Given the description of an element on the screen output the (x, y) to click on. 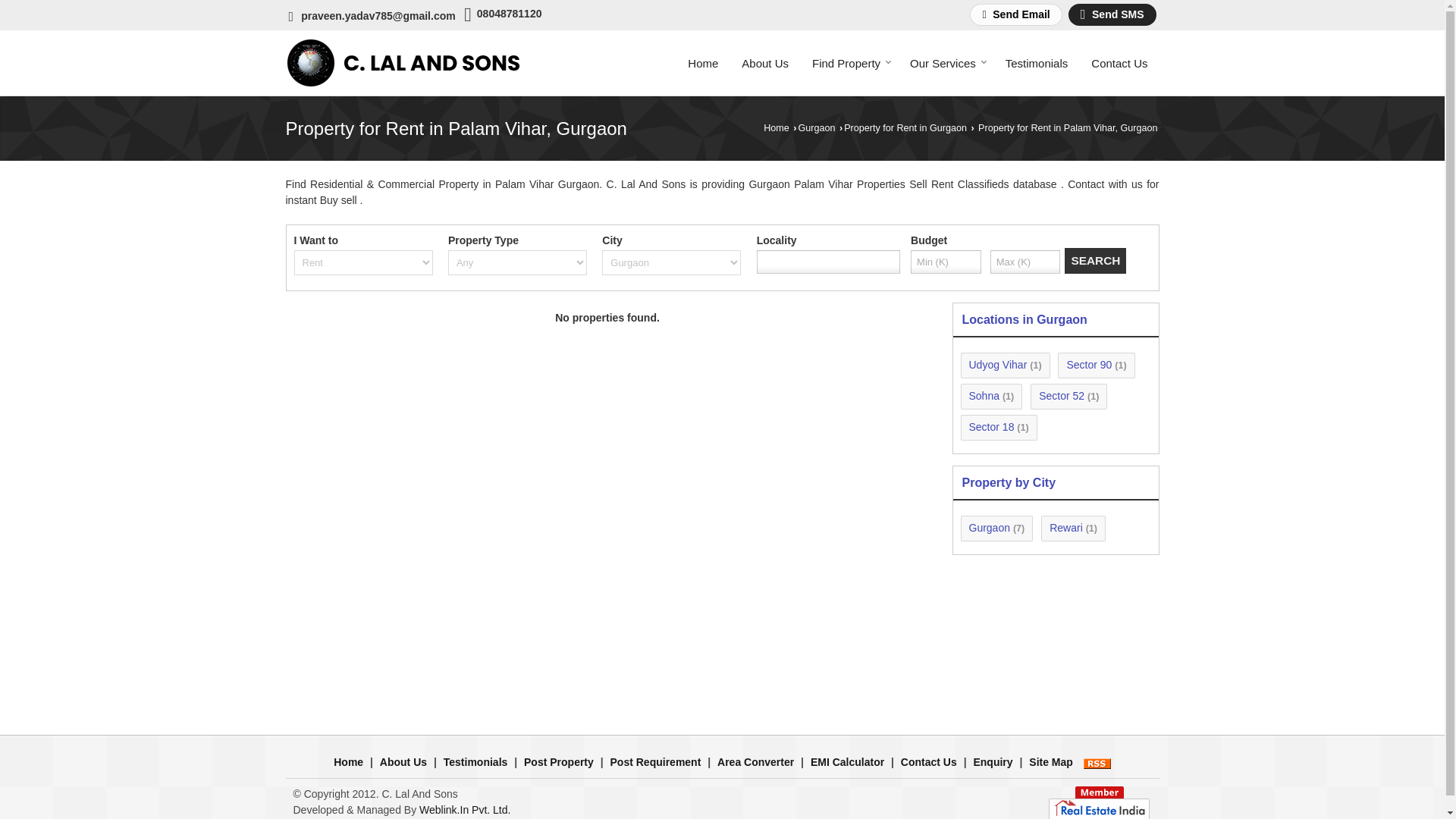
Find Property (849, 61)
Sector 52 (1061, 395)
Send Email (1015, 14)
Home (775, 127)
Contact Us (1119, 61)
Sohna (983, 395)
Gurgaon (815, 127)
About Us (403, 761)
SEARCH (1094, 260)
Home (347, 761)
